Given the description of an element on the screen output the (x, y) to click on. 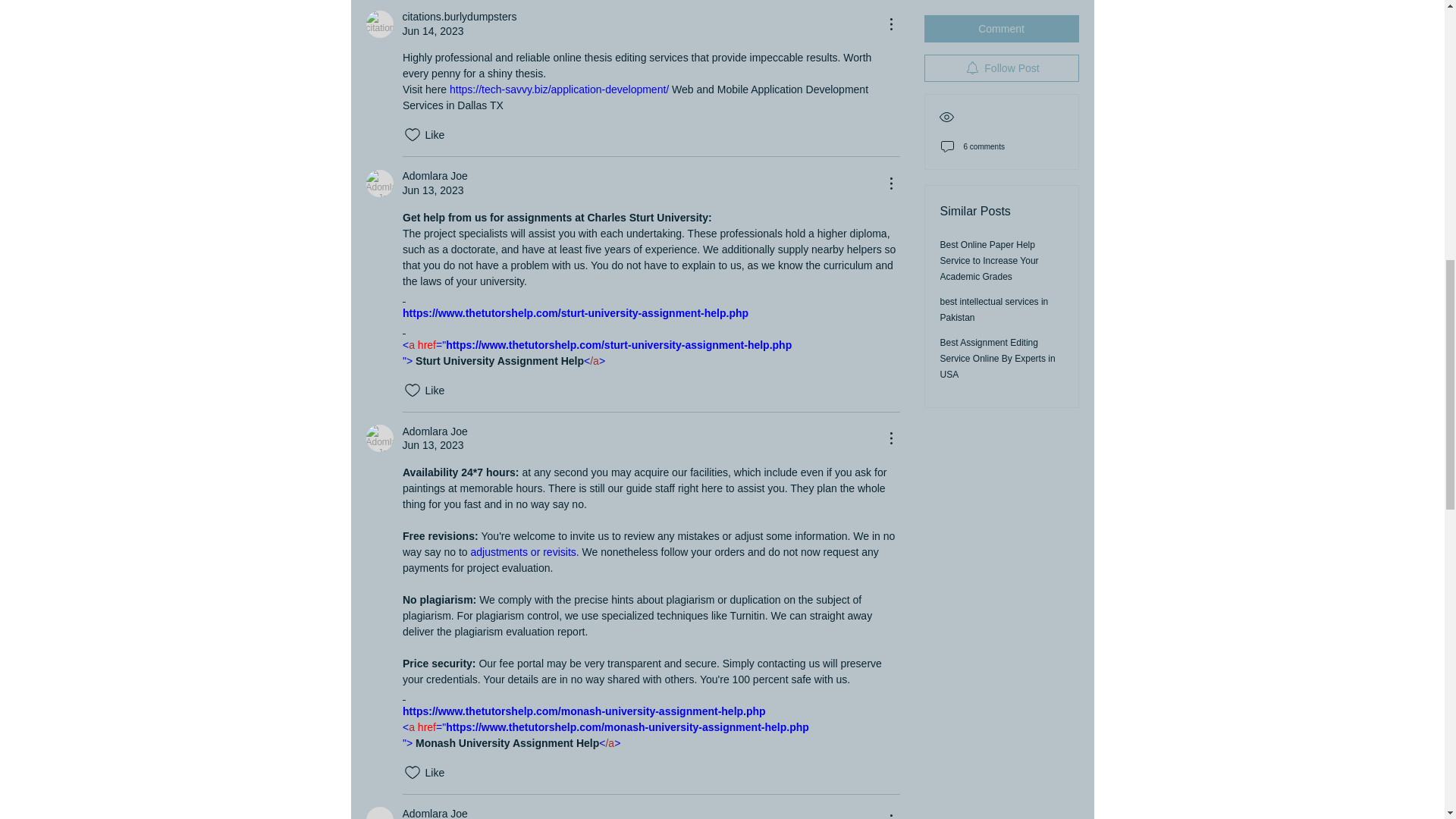
Adomlara Joe (379, 183)
Adomlara Joe (379, 438)
Adomlara Joe (379, 812)
citations.burlydumpsters (379, 23)
